Given the description of an element on the screen output the (x, y) to click on. 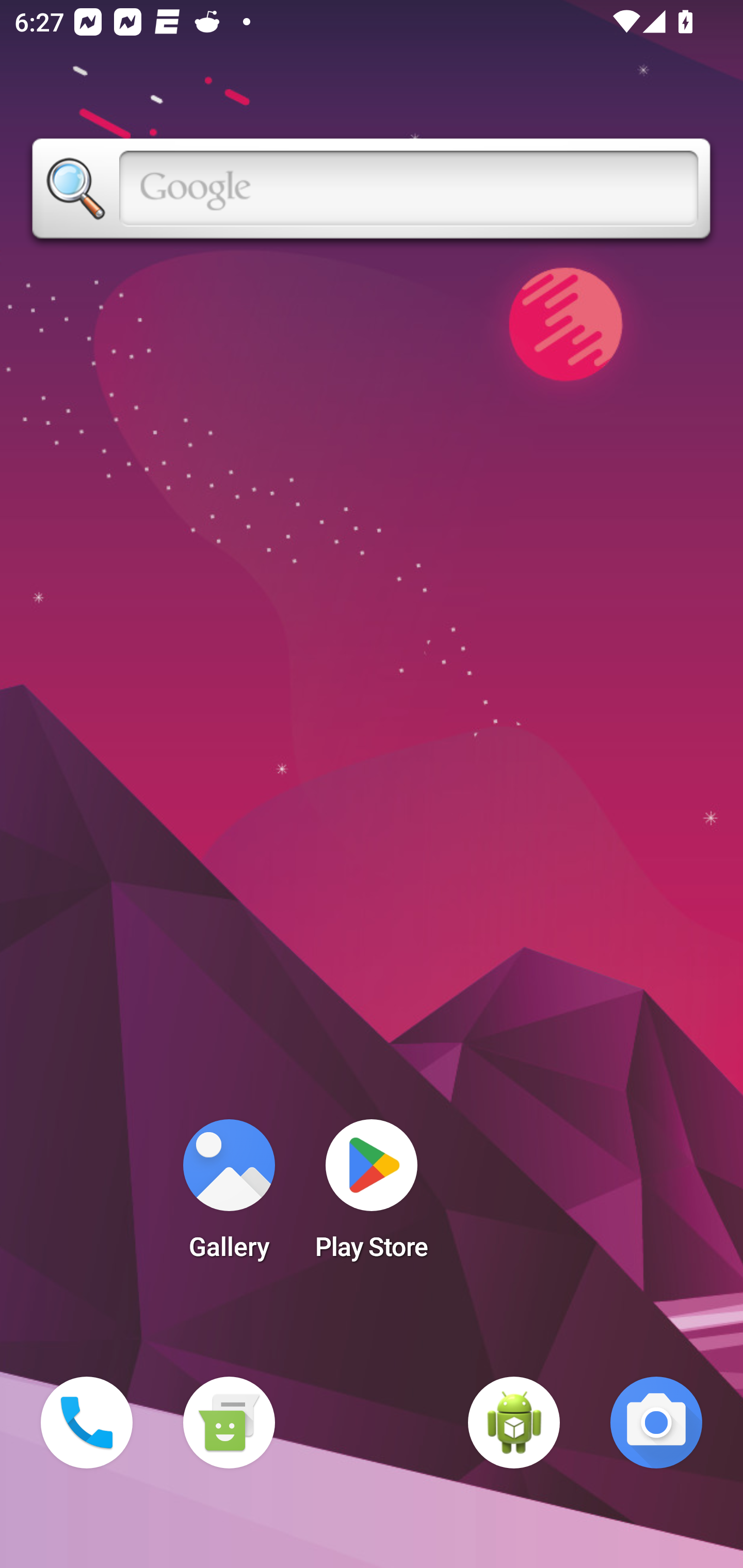
Gallery (228, 1195)
Play Store (371, 1195)
Phone (86, 1422)
Messaging (228, 1422)
WebView Browser Tester (513, 1422)
Camera (656, 1422)
